Given the description of an element on the screen output the (x, y) to click on. 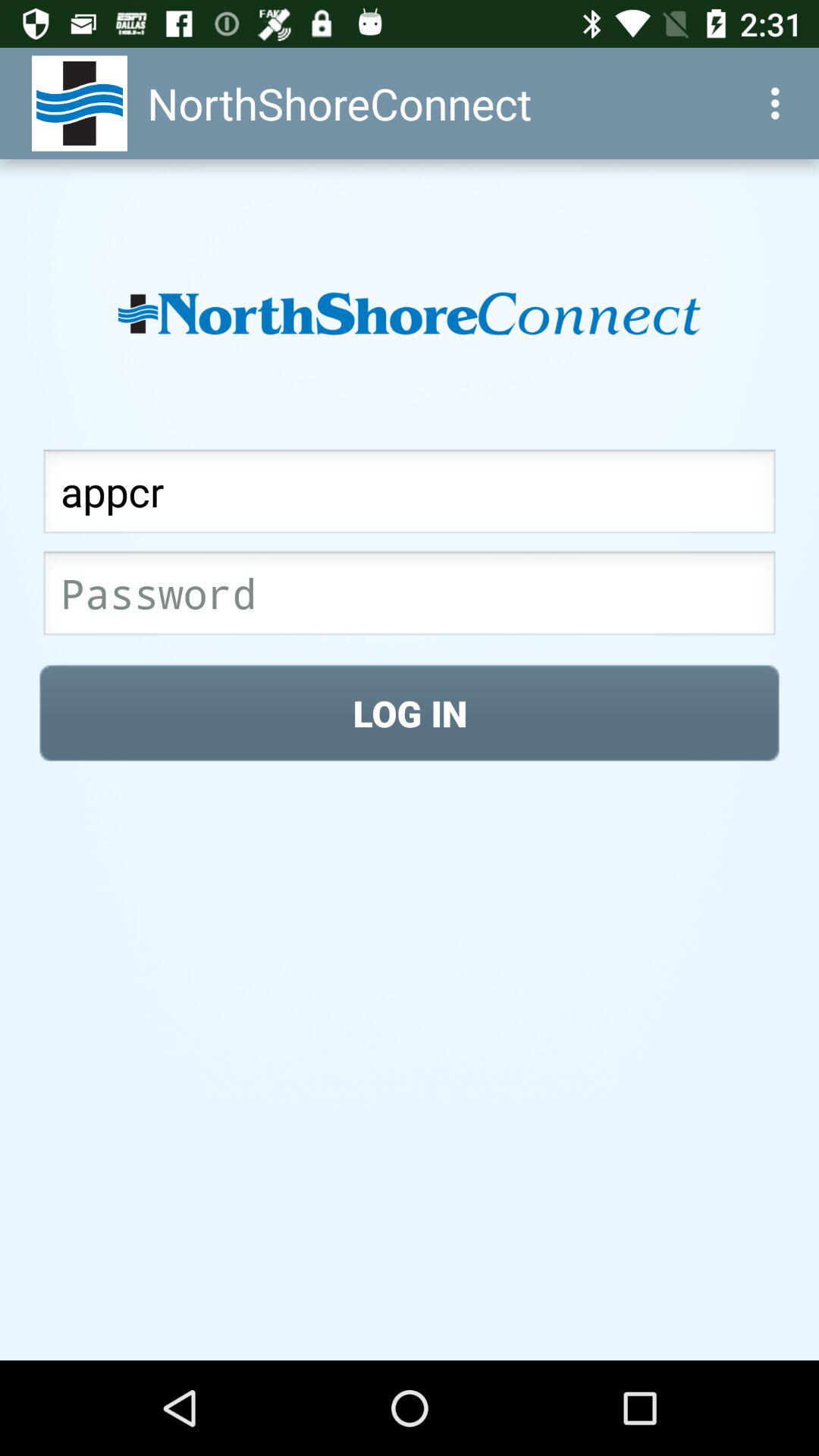
type in password (409, 597)
